Given the description of an element on the screen output the (x, y) to click on. 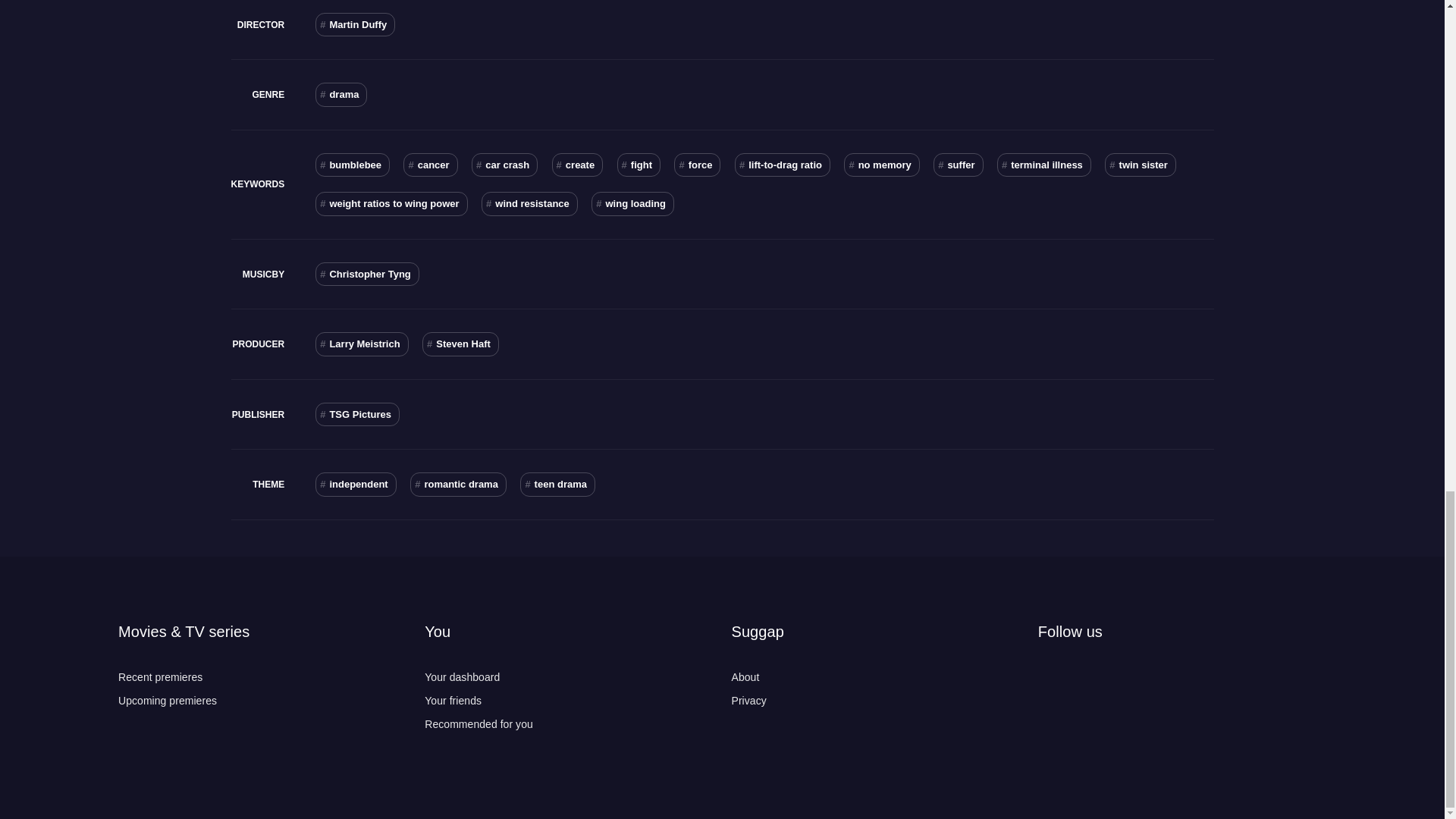
car crash (504, 165)
terminal illness (1043, 165)
suffer (957, 165)
lift-to-drag ratio (782, 165)
bumblebee (352, 165)
cancer (430, 165)
drama (340, 94)
Martin Duffy (354, 24)
create (577, 165)
twin sister (1140, 165)
